Given the description of an element on the screen output the (x, y) to click on. 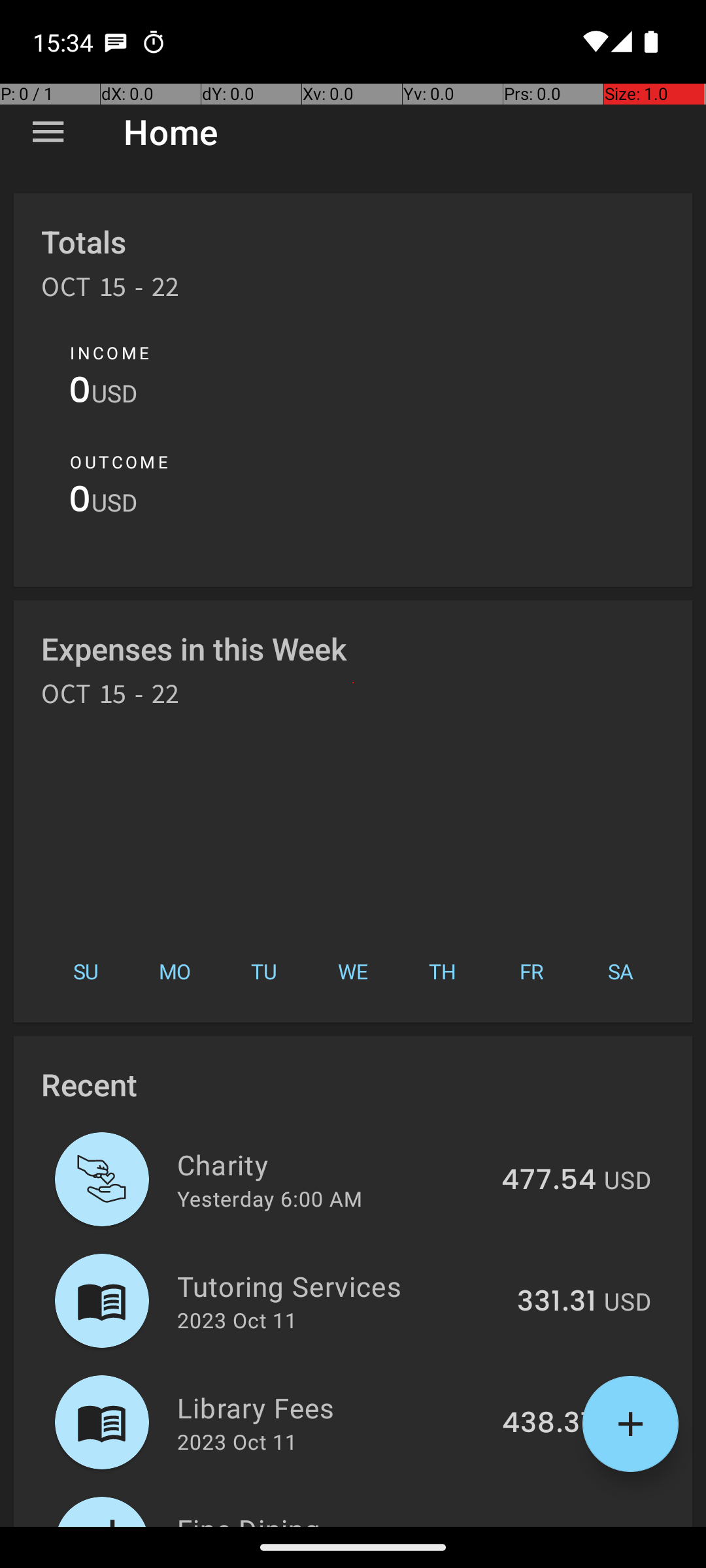
Charity Element type: android.widget.TextView (331, 1164)
Yesterday 6:00 AM Element type: android.widget.TextView (269, 1198)
477.54 Element type: android.widget.TextView (548, 1180)
Tutoring Services Element type: android.widget.TextView (339, 1285)
331.31 Element type: android.widget.TextView (556, 1301)
438.37 Element type: android.widget.TextView (548, 1423)
60.96 Element type: android.widget.TextView (555, 1524)
SMS Messenger notification: Emily Ibrahim Element type: android.widget.ImageView (115, 41)
